Given the description of an element on the screen output the (x, y) to click on. 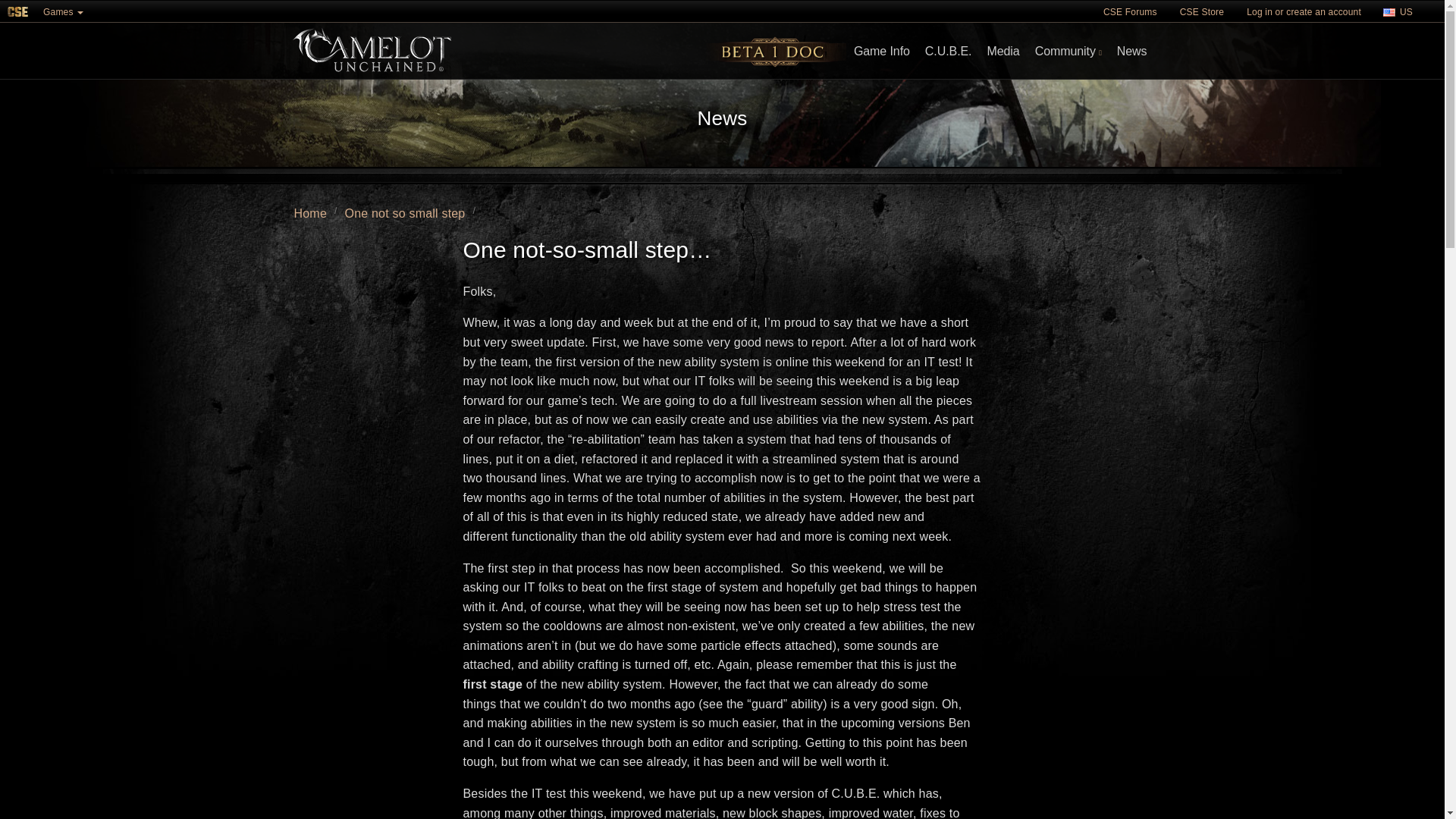
C.U.B.E. (948, 51)
CSE Forums (1130, 11)
Beta 1 Doc (775, 51)
Log in or create an account (1303, 11)
CSE Store (1201, 11)
Community (1068, 51)
Game Info (881, 51)
Games (62, 11)
US (1399, 12)
Media (1002, 51)
